Given the description of an element on the screen output the (x, y) to click on. 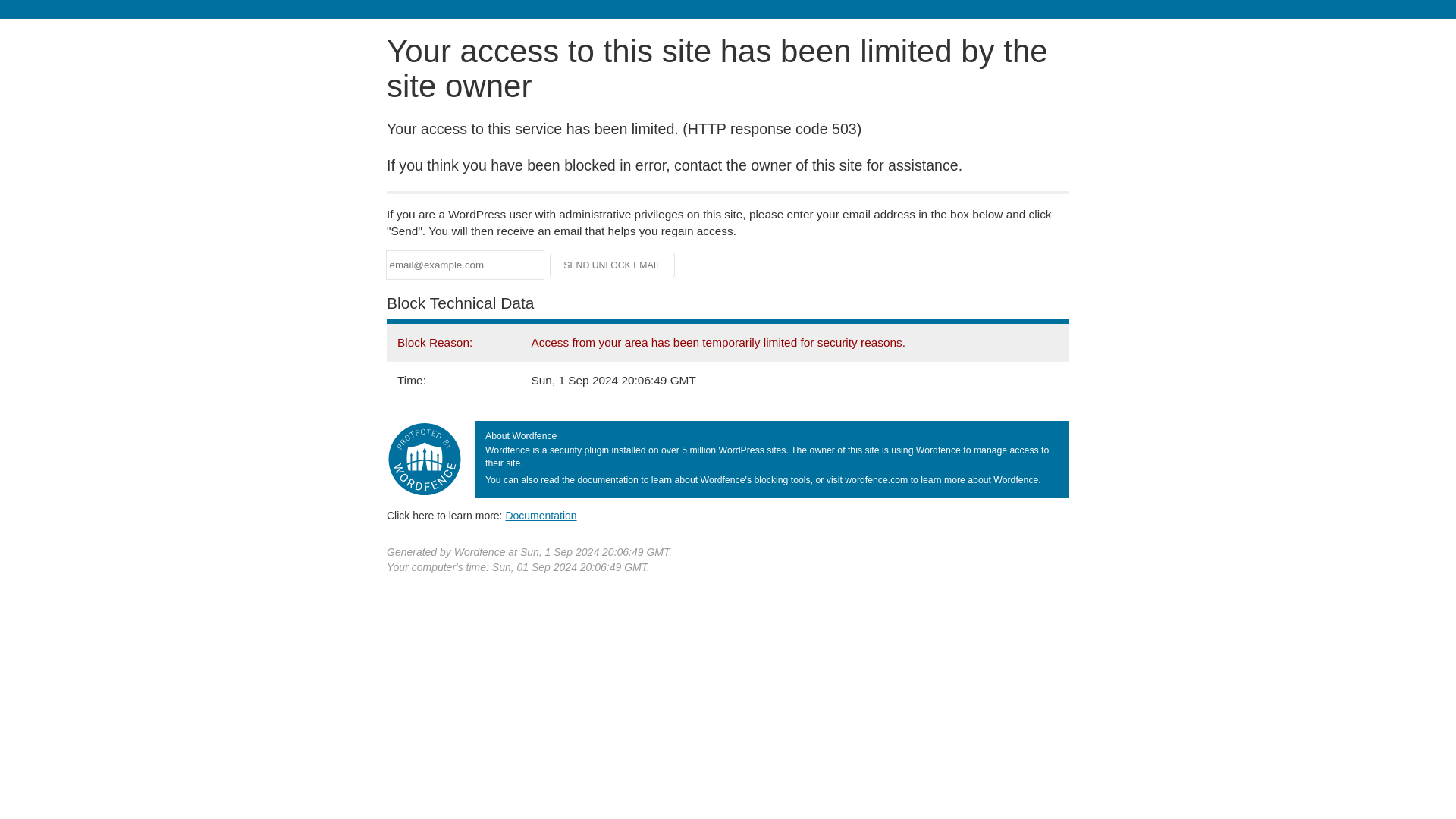
Documentation (540, 515)
Send Unlock Email (612, 265)
Send Unlock Email (612, 265)
